Given the description of an element on the screen output the (x, y) to click on. 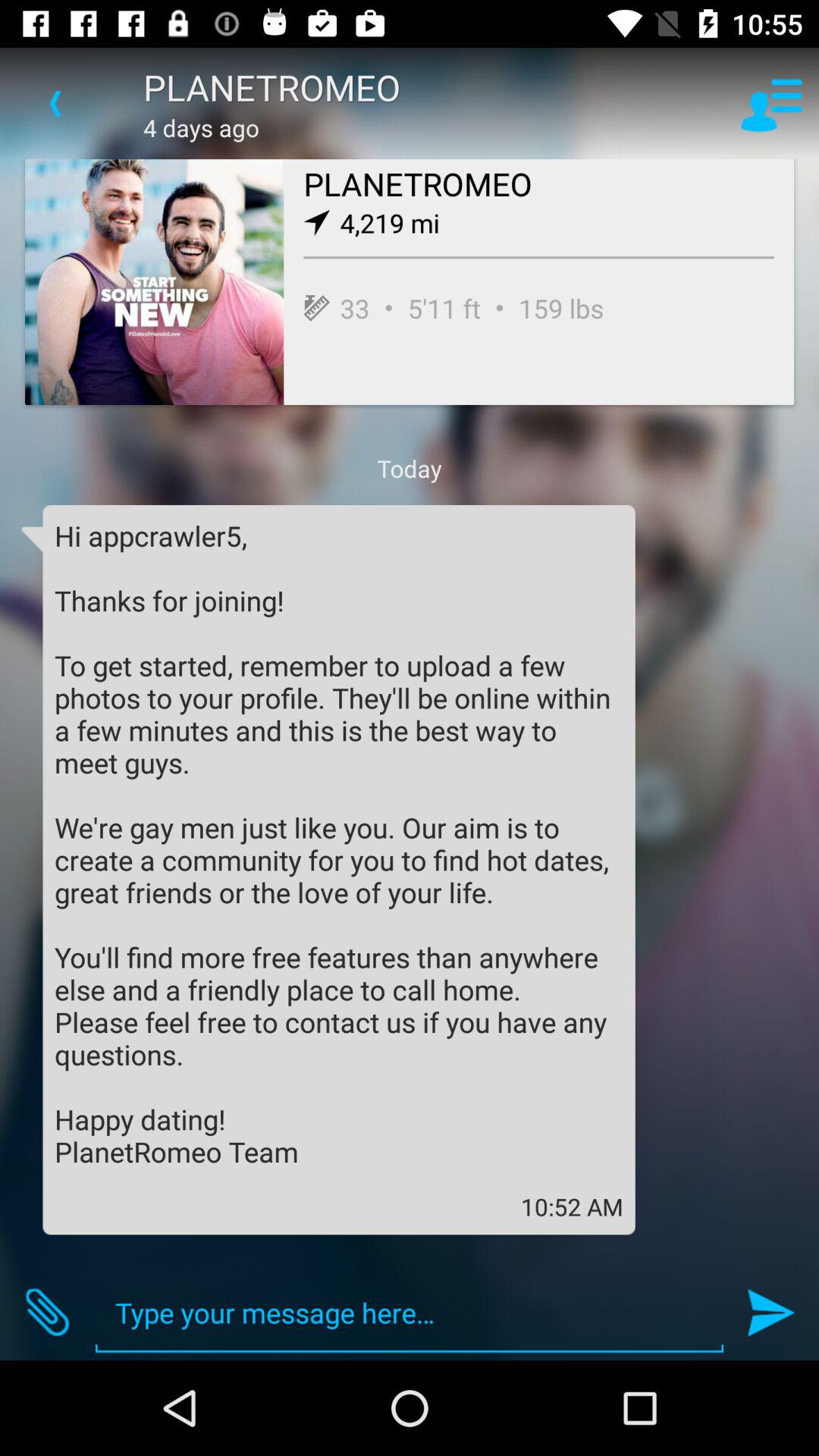
turn off the icon next to planetromeo item (771, 103)
